Given the description of an element on the screen output the (x, y) to click on. 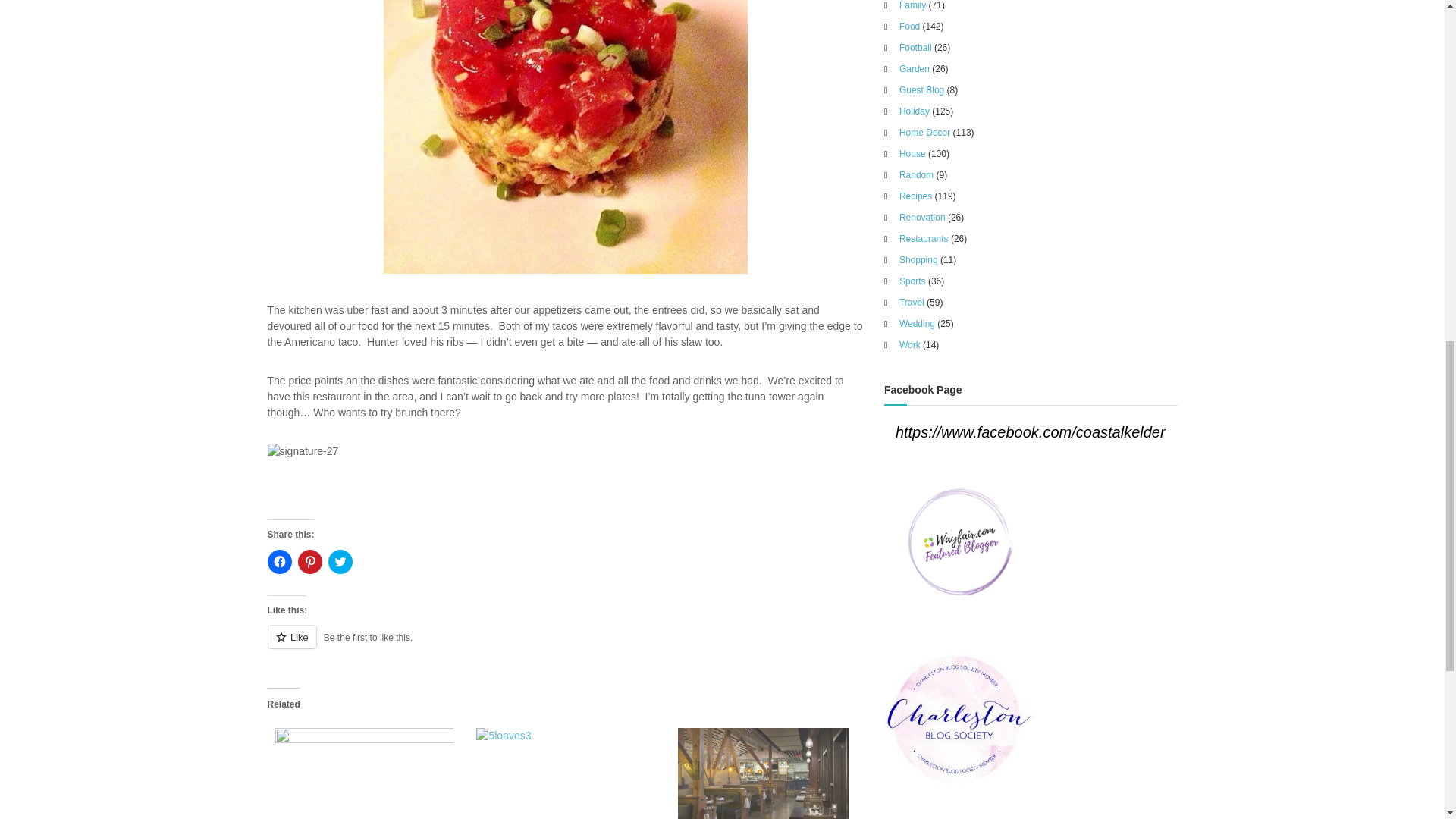
Click to share on Facebook (278, 561)
Like or Reblog (564, 645)
Scratch Taco Boutique (359, 769)
Click to share on Pinterest (309, 561)
Click to share on Twitter (339, 561)
Restaurant Week: Five Loaves Cafe (561, 769)
